Given the description of an element on the screen output the (x, y) to click on. 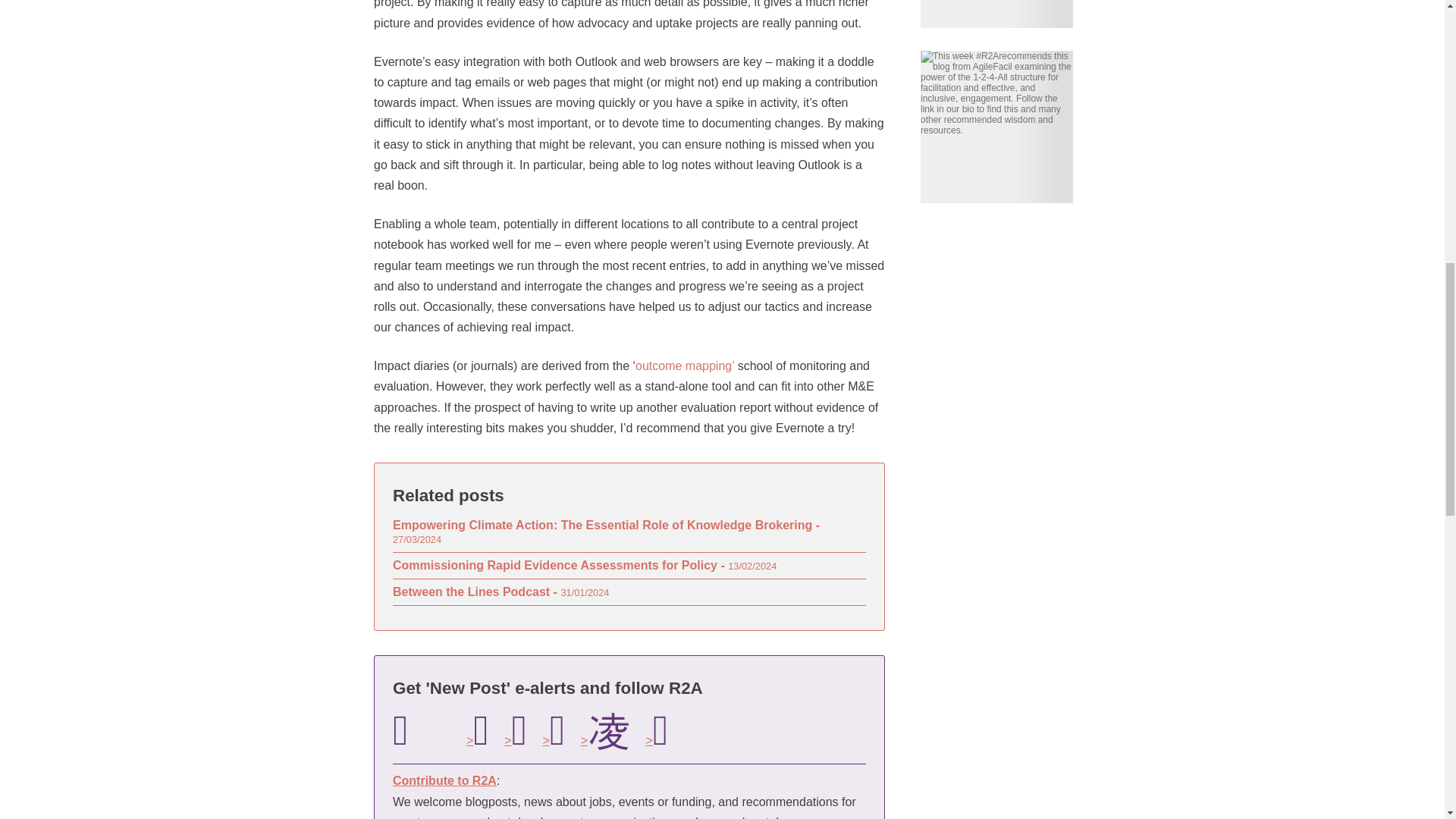
Find us on Instagram (605, 730)
